Given the description of an element on the screen output the (x, y) to click on. 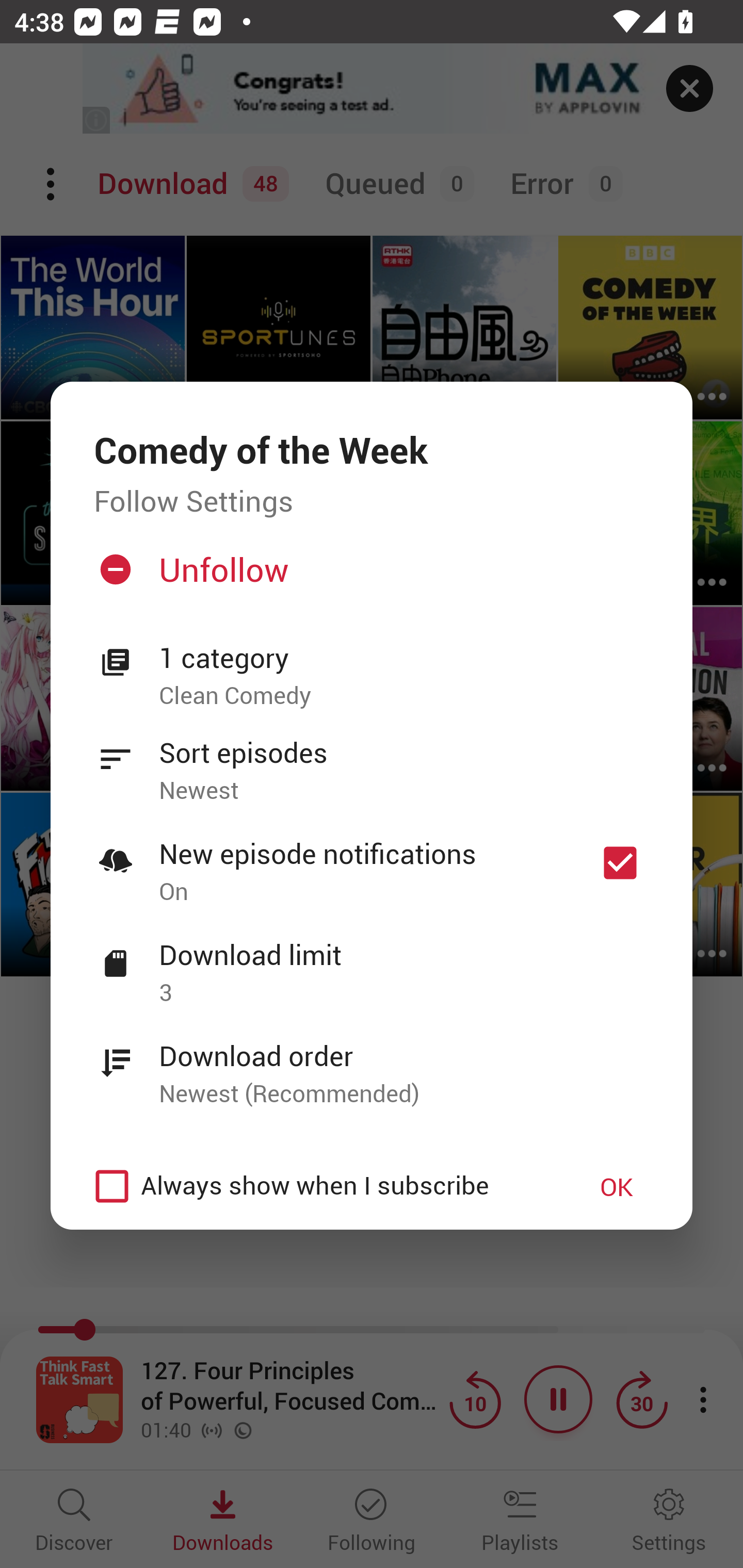
Unfollow (369, 576)
1 category (404, 658)
Clean Comedy (404, 696)
Sort episodes Newest (371, 760)
New episode notifications (620, 863)
Download limit 3 (371, 962)
Download order Newest (Recommended) (371, 1063)
OK (616, 1186)
Always show when I subscribe (320, 1186)
